Given the description of an element on the screen output the (x, y) to click on. 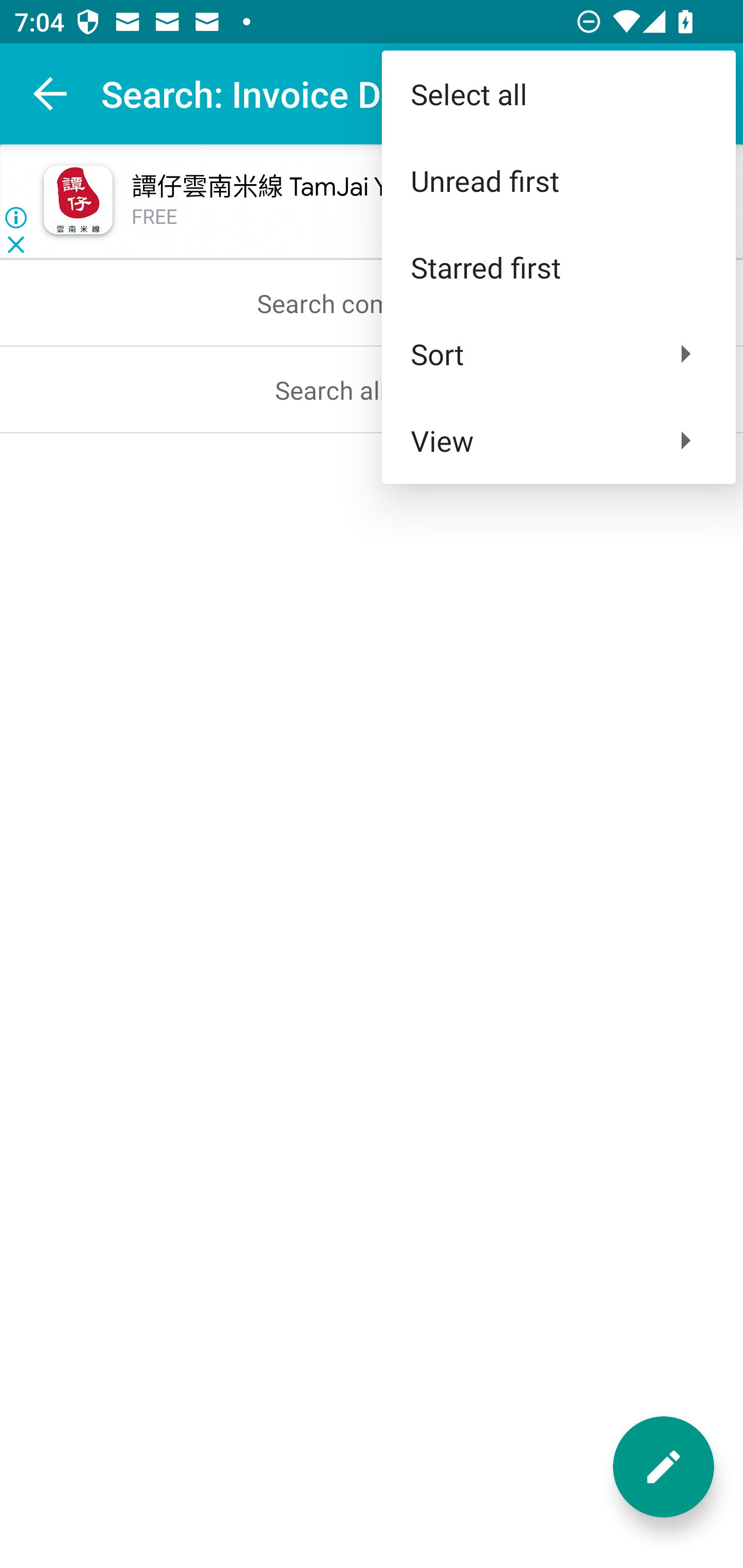
Select all (558, 93)
Unread first (558, 180)
Starred first (558, 267)
Sort (558, 353)
View (558, 440)
